Given the description of an element on the screen output the (x, y) to click on. 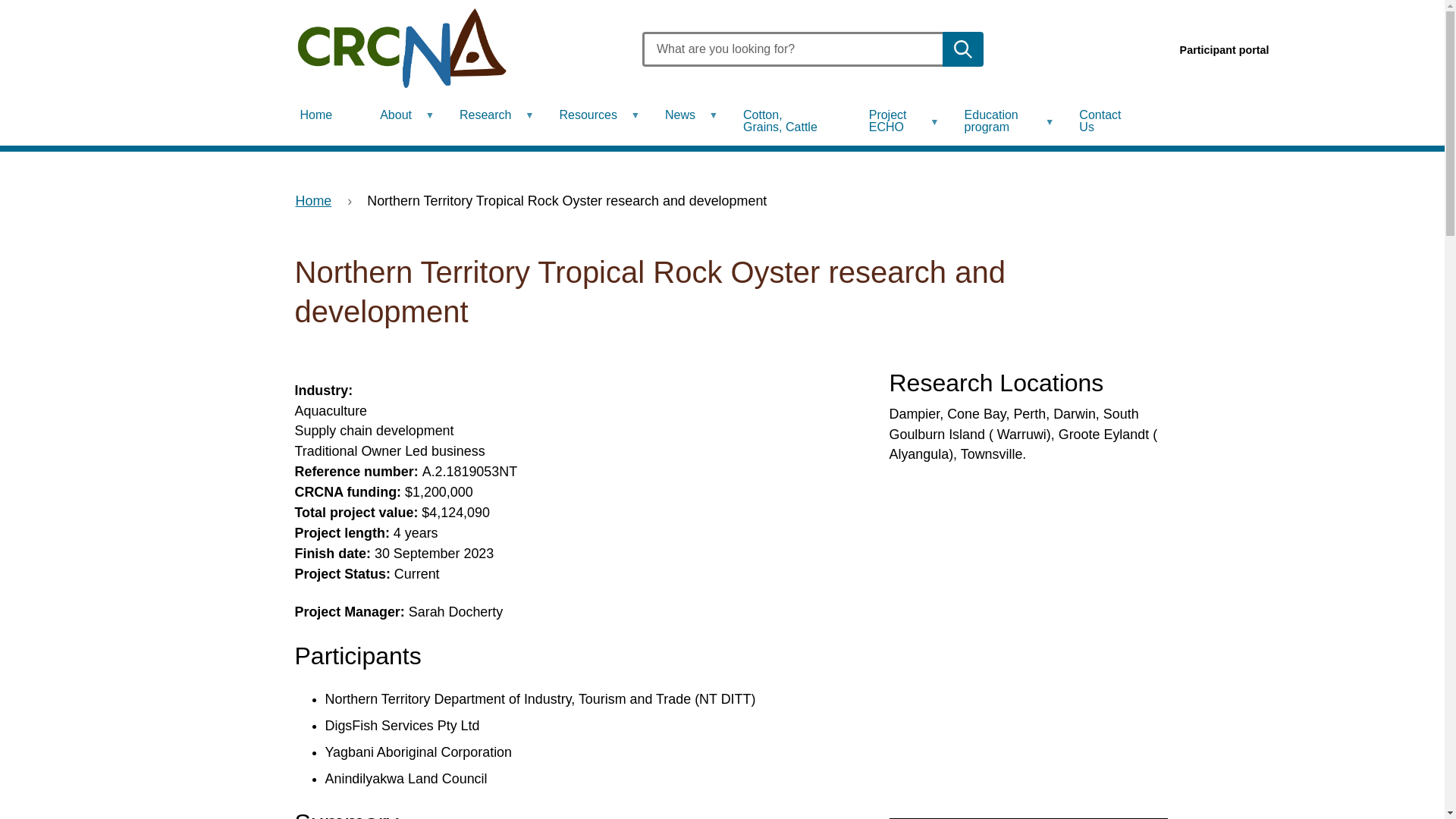
Home Element type: text (313, 200)
Cotton, Grains, Cattle Element type: text (788, 121)
Participant portal Element type: text (1224, 49)
Skip to main content Element type: text (0, 0)
Home Element type: text (322, 115)
Search Element type: text (962, 48)
Home Element type: hover (454, 48)
Contact Us Element type: text (1105, 121)
